Given the description of an element on the screen output the (x, y) to click on. 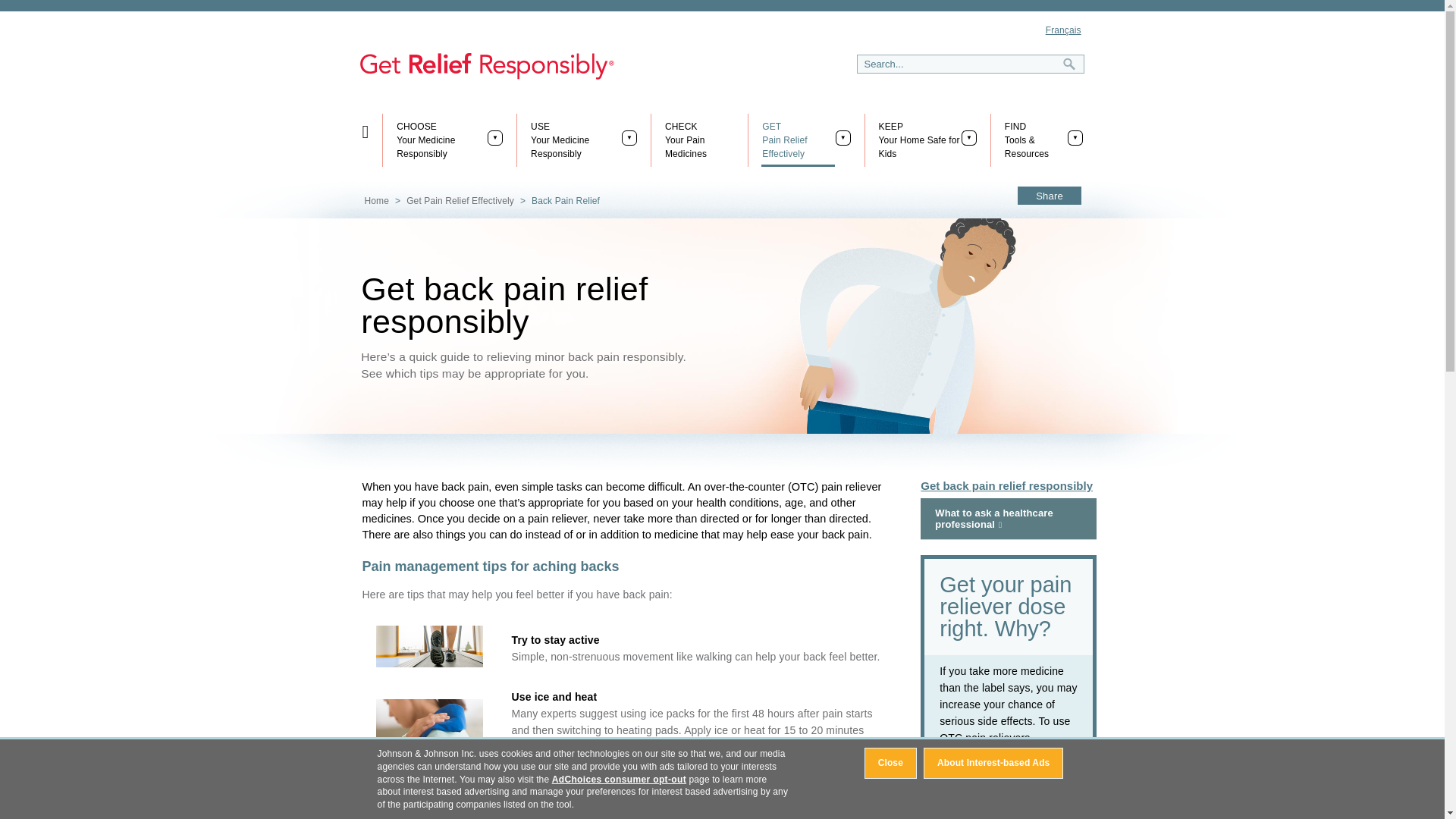
Search (1066, 63)
Enter the terms you wish to search for. (441, 140)
Skip to main content (919, 140)
